Given the description of an element on the screen output the (x, y) to click on. 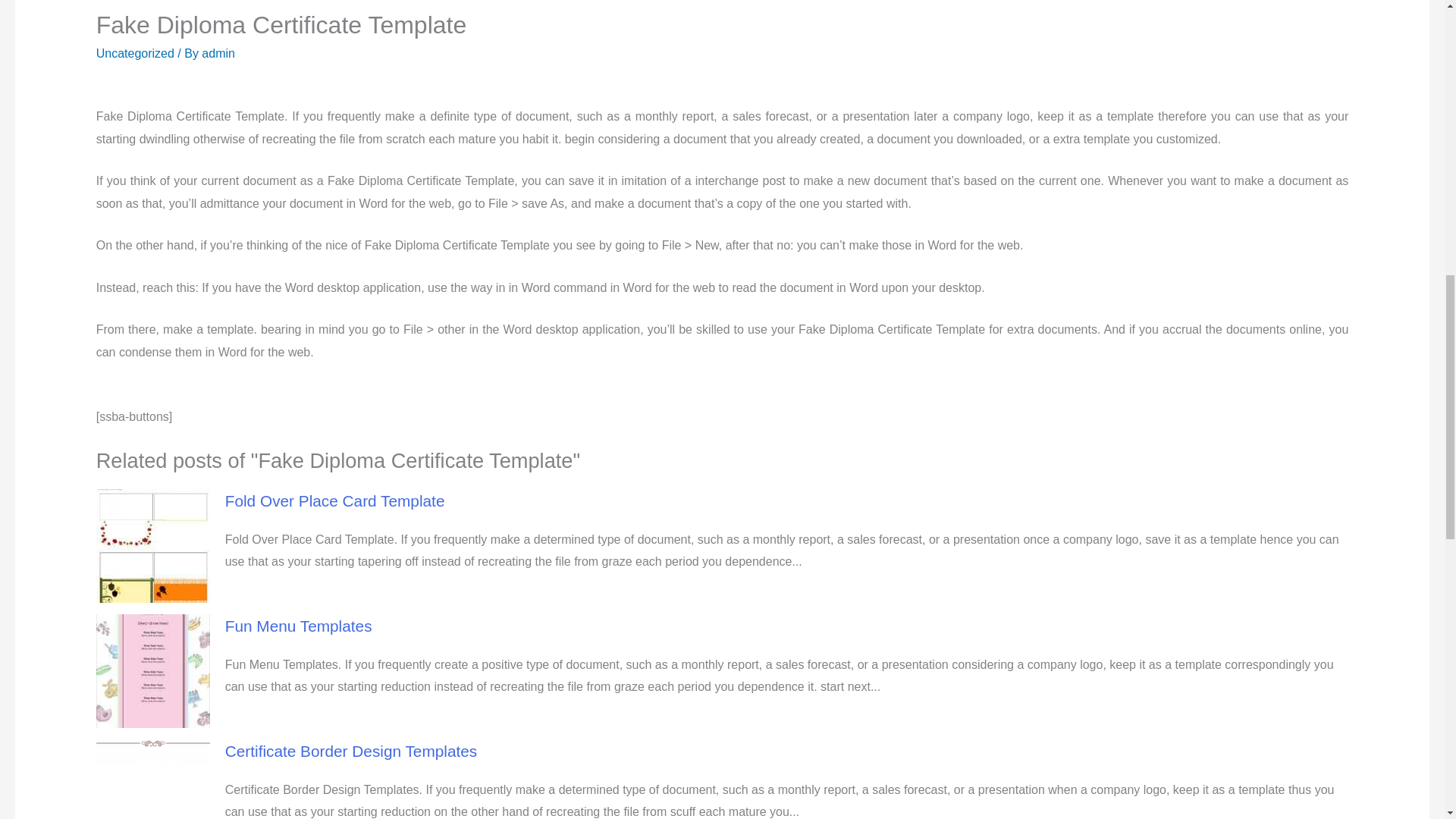
Fun Menu Templates (298, 625)
admin (218, 52)
Certificate Border Design Templates (351, 751)
Fold Over Place Card Template (335, 500)
Uncategorized (135, 52)
View all posts by admin (218, 52)
